Given the description of an element on the screen output the (x, y) to click on. 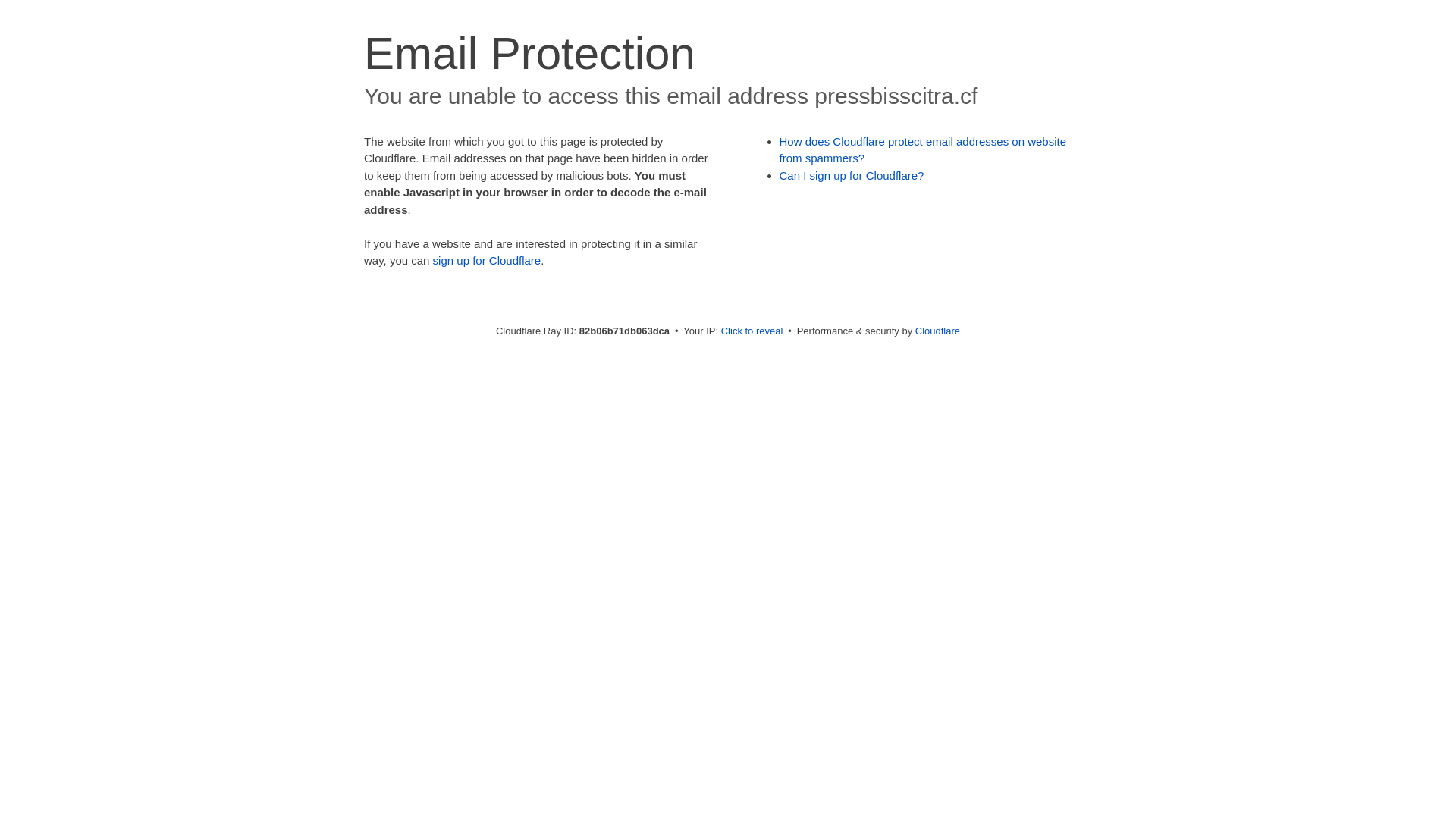
sign up for Cloudflare Element type: text (487, 260)
Can I sign up for Cloudflare? Element type: text (851, 175)
Click to reveal Element type: text (752, 330)
Cloudflare Element type: text (937, 330)
